Given the description of an element on the screen output the (x, y) to click on. 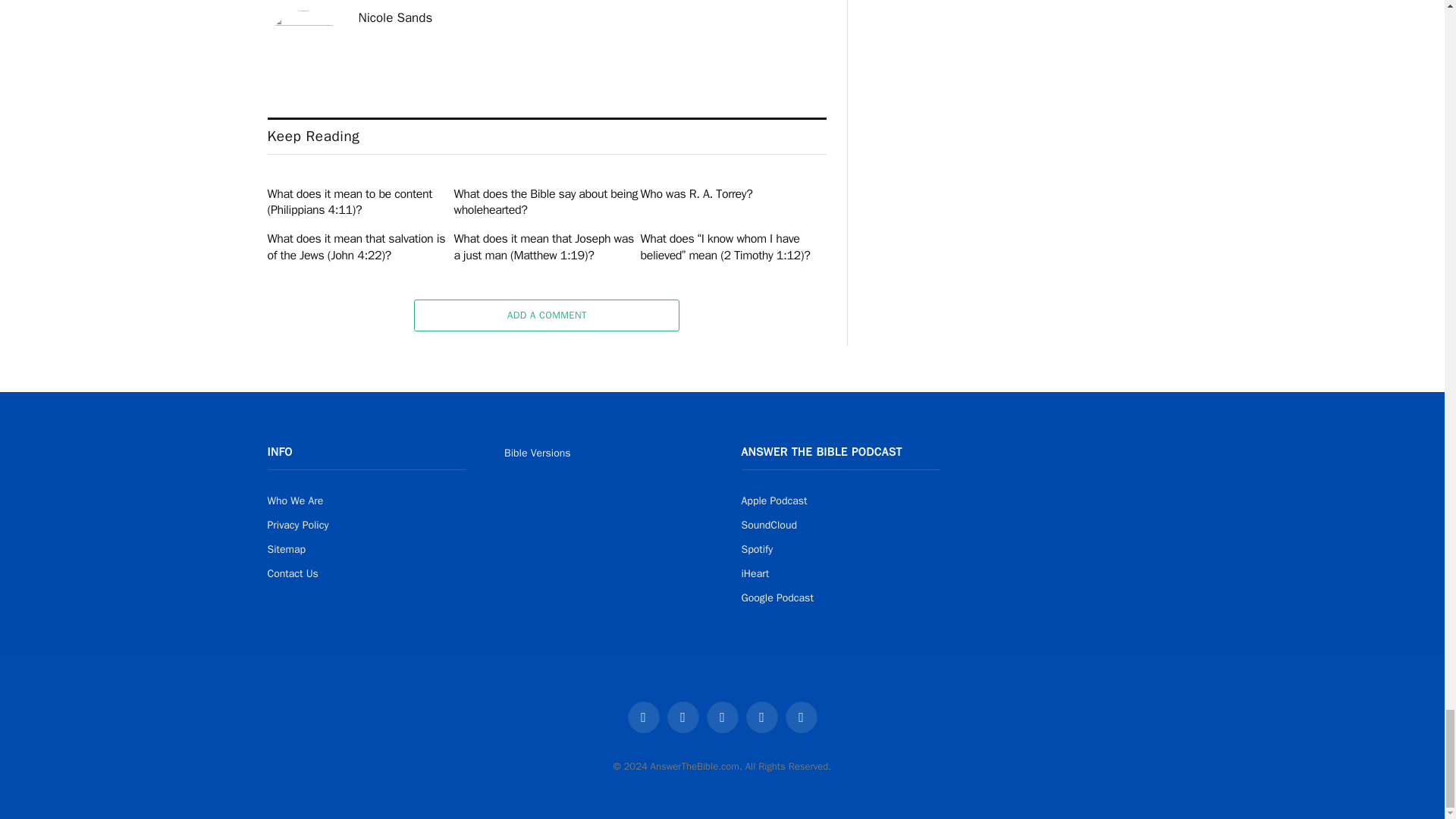
Posts by Nicole Sands (395, 17)
ADD A COMMENT (546, 315)
What does the Bible say about being wholehearted? (546, 203)
Who was R. A. Torrey? (733, 194)
Privacy Policy (297, 524)
Who We Are (294, 500)
Nicole Sands (395, 17)
